Given the description of an element on the screen output the (x, y) to click on. 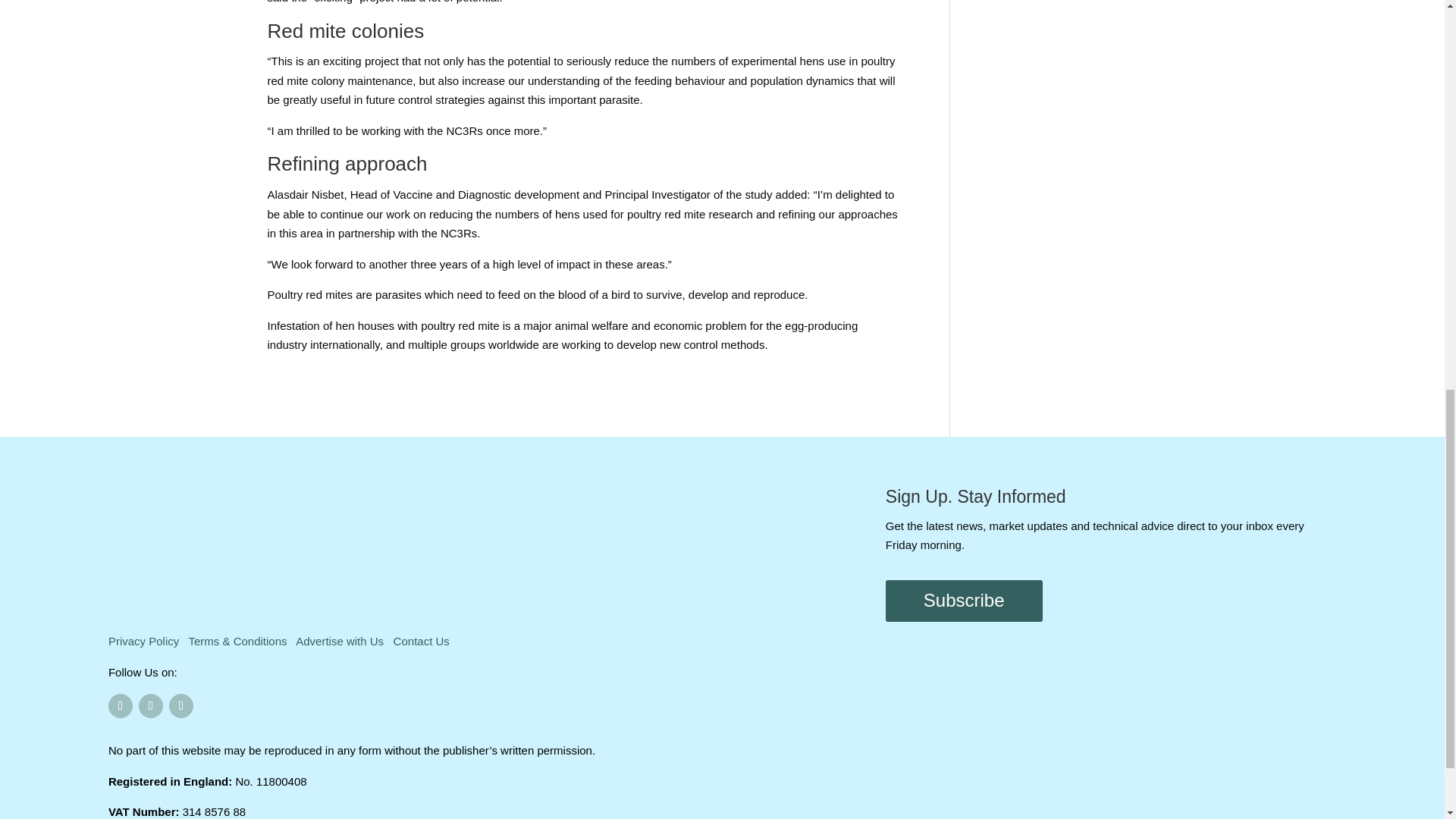
Follow on Facebook (119, 705)
Privacy Policy (143, 640)
Follow on Twitter (150, 705)
Advertise with Us (339, 640)
Follow on LinkedIn (180, 705)
